Given the description of an element on the screen output the (x, y) to click on. 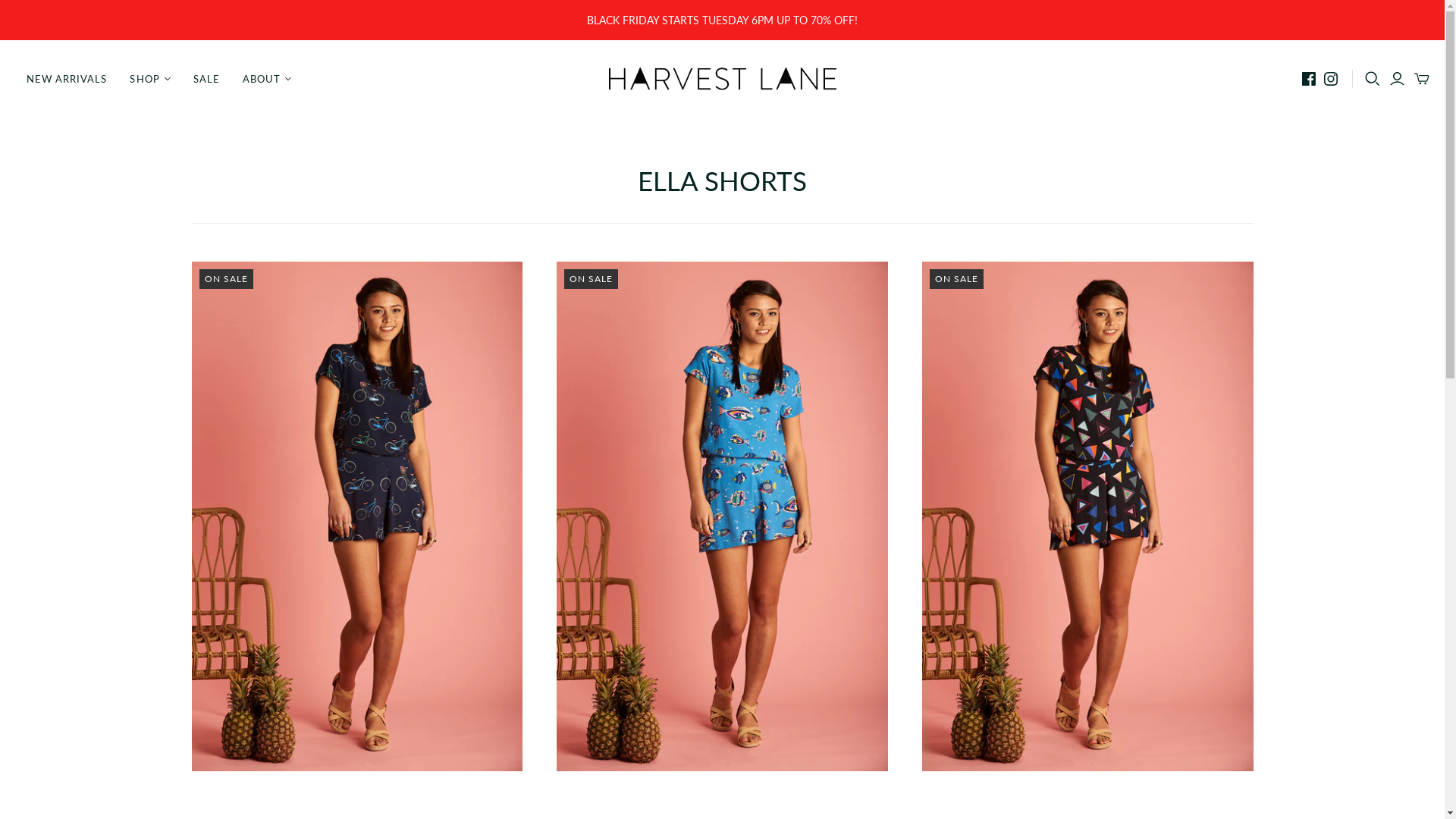
NEW ARRIVALS Element type: text (66, 78)
BLACK FRIDAY STARTS TUESDAY 6PM UP TO 70% OFF! Element type: text (722, 20)
ABOUT Element type: text (266, 78)
SALE Element type: text (206, 78)
SHOP Element type: text (149, 78)
